Given the description of an element on the screen output the (x, y) to click on. 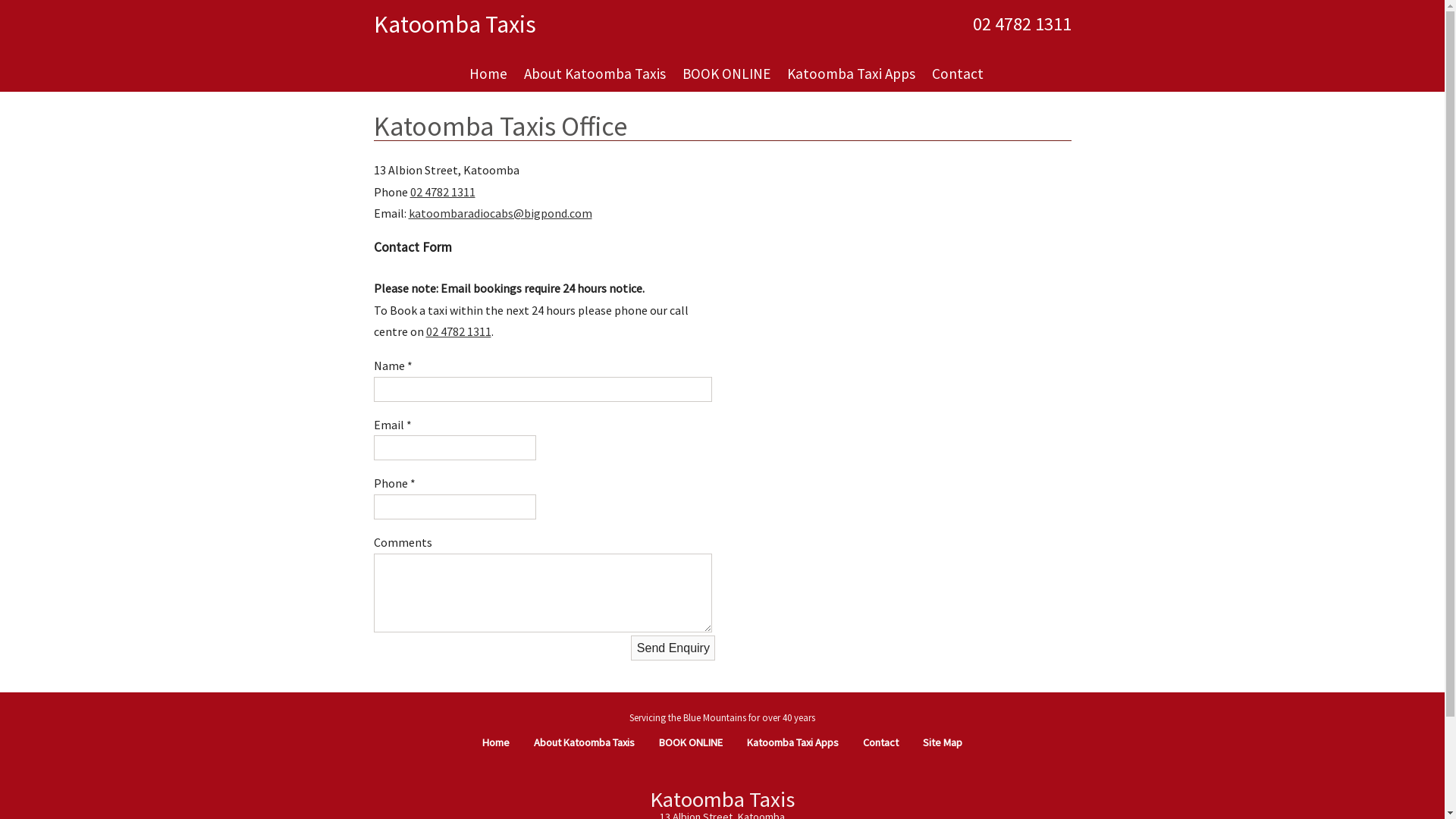
Home Element type: text (488, 73)
katoombaradiocabs@bigpond.com Element type: text (499, 212)
Katoomba Taxis Element type: text (454, 24)
Contact Element type: text (880, 742)
BOOK ONLINE Element type: text (725, 73)
02 4782 1311 Element type: text (458, 330)
02 4782 1311 Element type: text (1021, 23)
Contact Element type: text (957, 73)
Site Map Element type: text (942, 742)
About Katoomba Taxis Element type: text (584, 742)
About Katoomba Taxis Element type: text (594, 73)
Katoomba Taxi Apps Element type: text (792, 742)
02 4782 1311 Element type: text (441, 191)
Send Enquiry Element type: text (672, 647)
Katoomba Taxi Apps Element type: text (850, 73)
Home Element type: text (495, 742)
BOOK ONLINE Element type: text (690, 742)
